Given the description of an element on the screen output the (x, y) to click on. 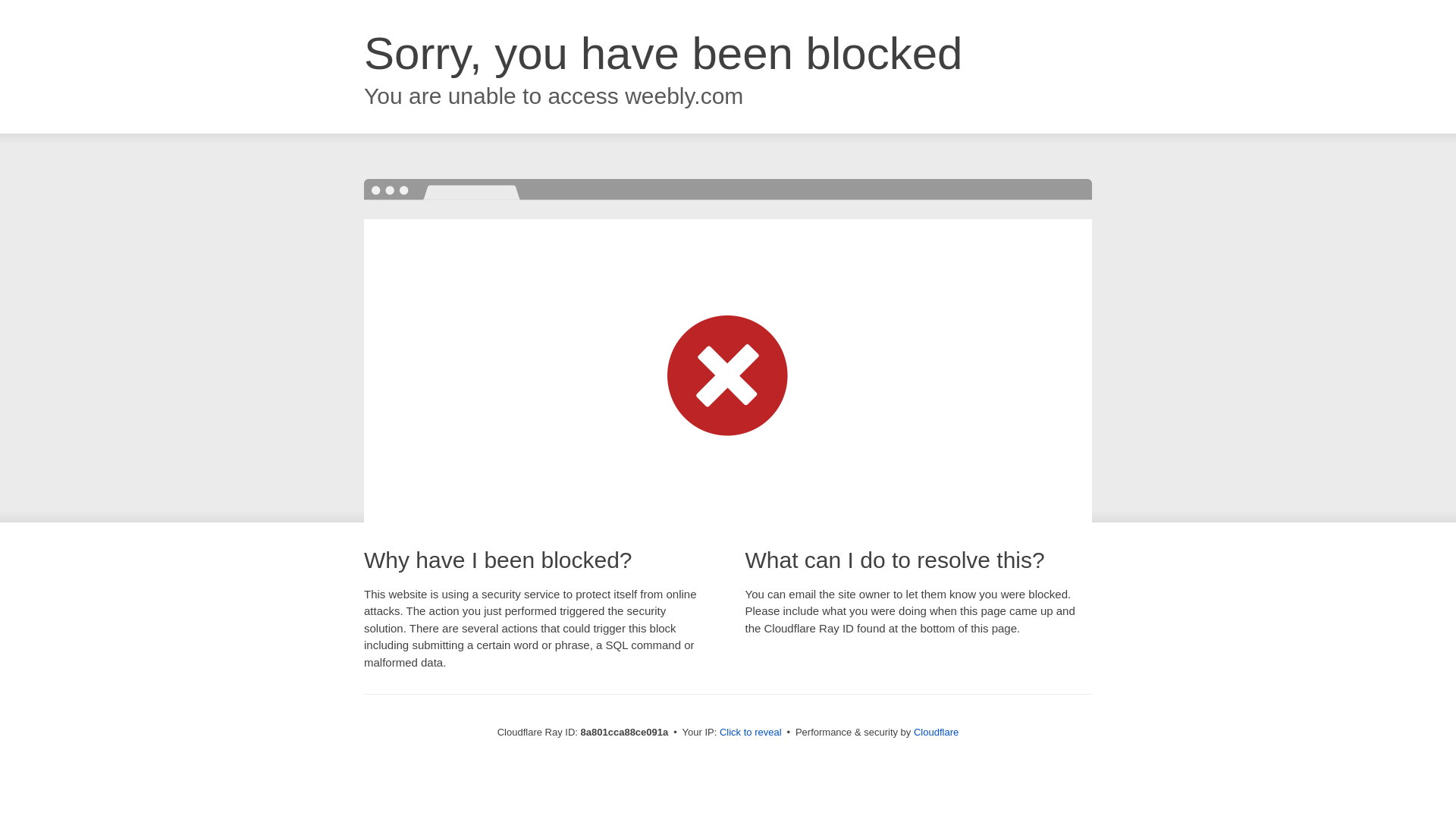
Cloudflare (936, 731)
Click to reveal (750, 732)
